Given the description of an element on the screen output the (x, y) to click on. 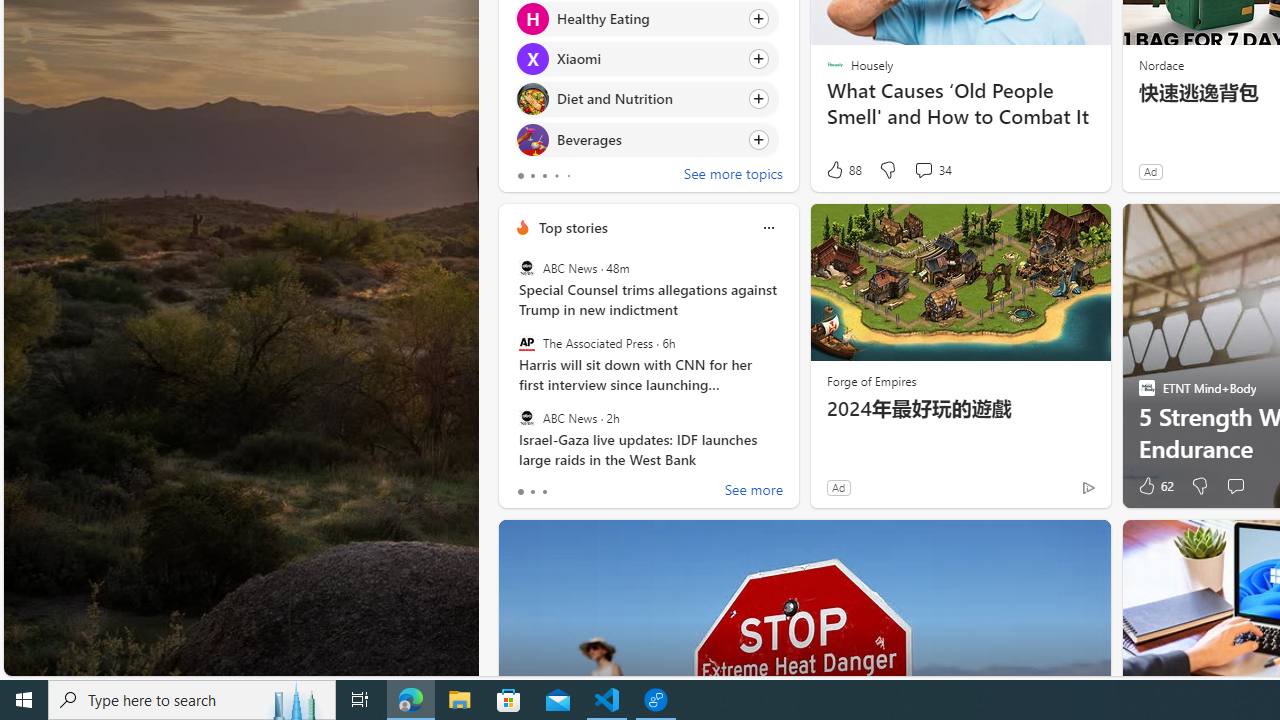
Beverages (532, 139)
View comments 34 Comment (923, 169)
See more topics (733, 175)
